Given the description of an element on the screen output the (x, y) to click on. 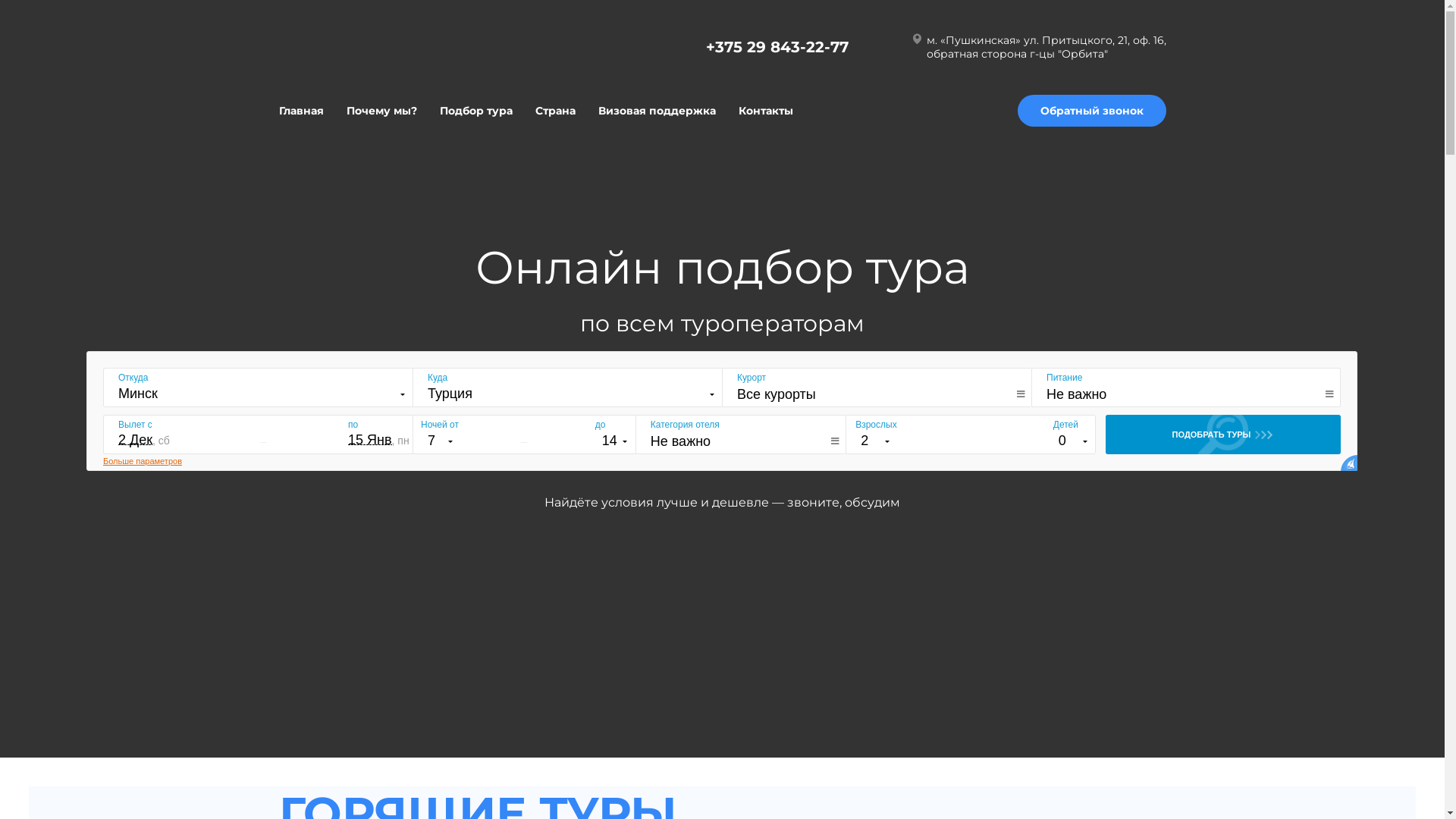
+375 29 843-22-77 Element type: text (776, 46)
